Given the description of an element on the screen output the (x, y) to click on. 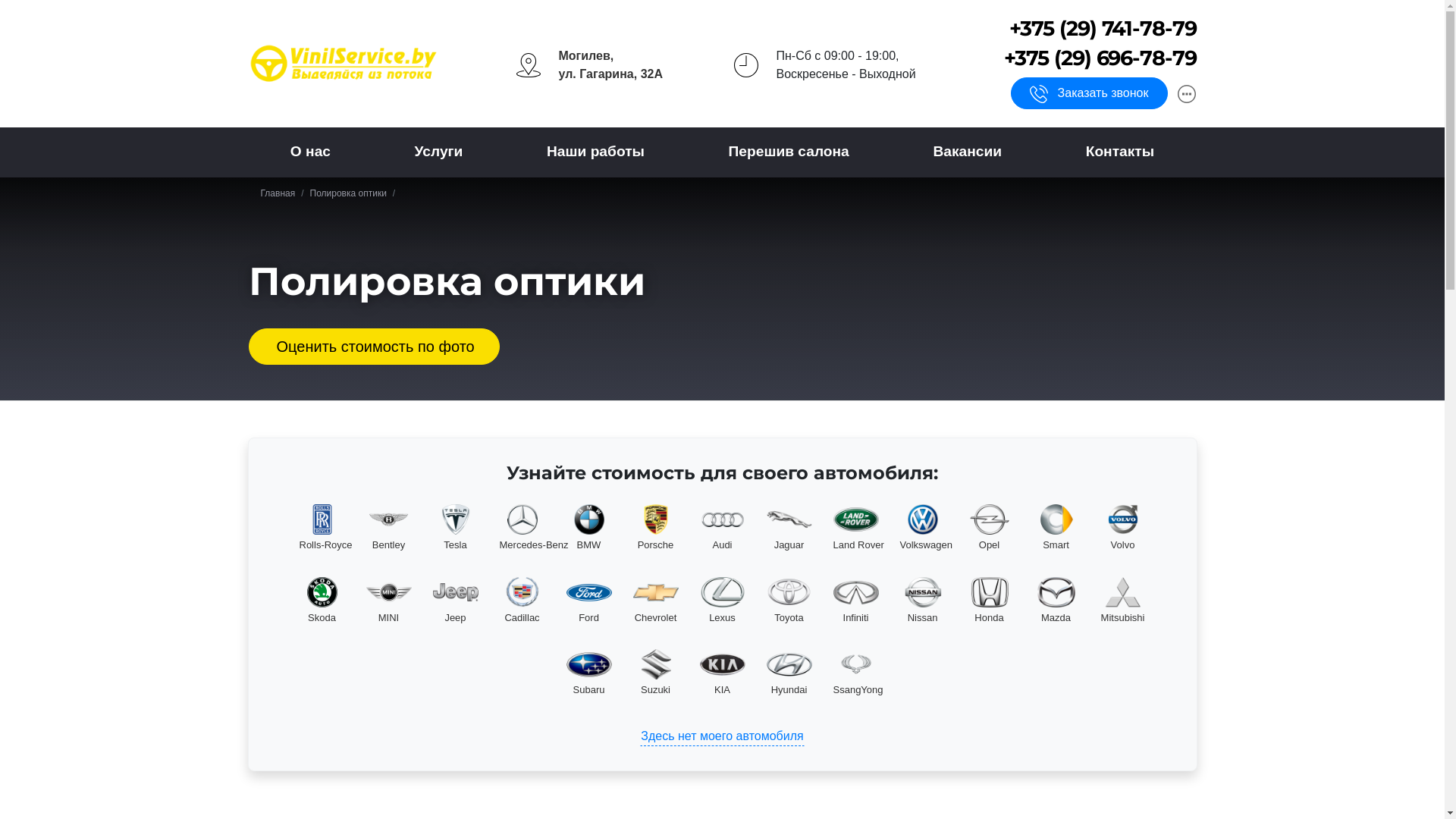
+375 (29) 741-78-79 Element type: text (1102, 28)
+375 (29) 696-78-79 Element type: text (1100, 58)
